Given the description of an element on the screen output the (x, y) to click on. 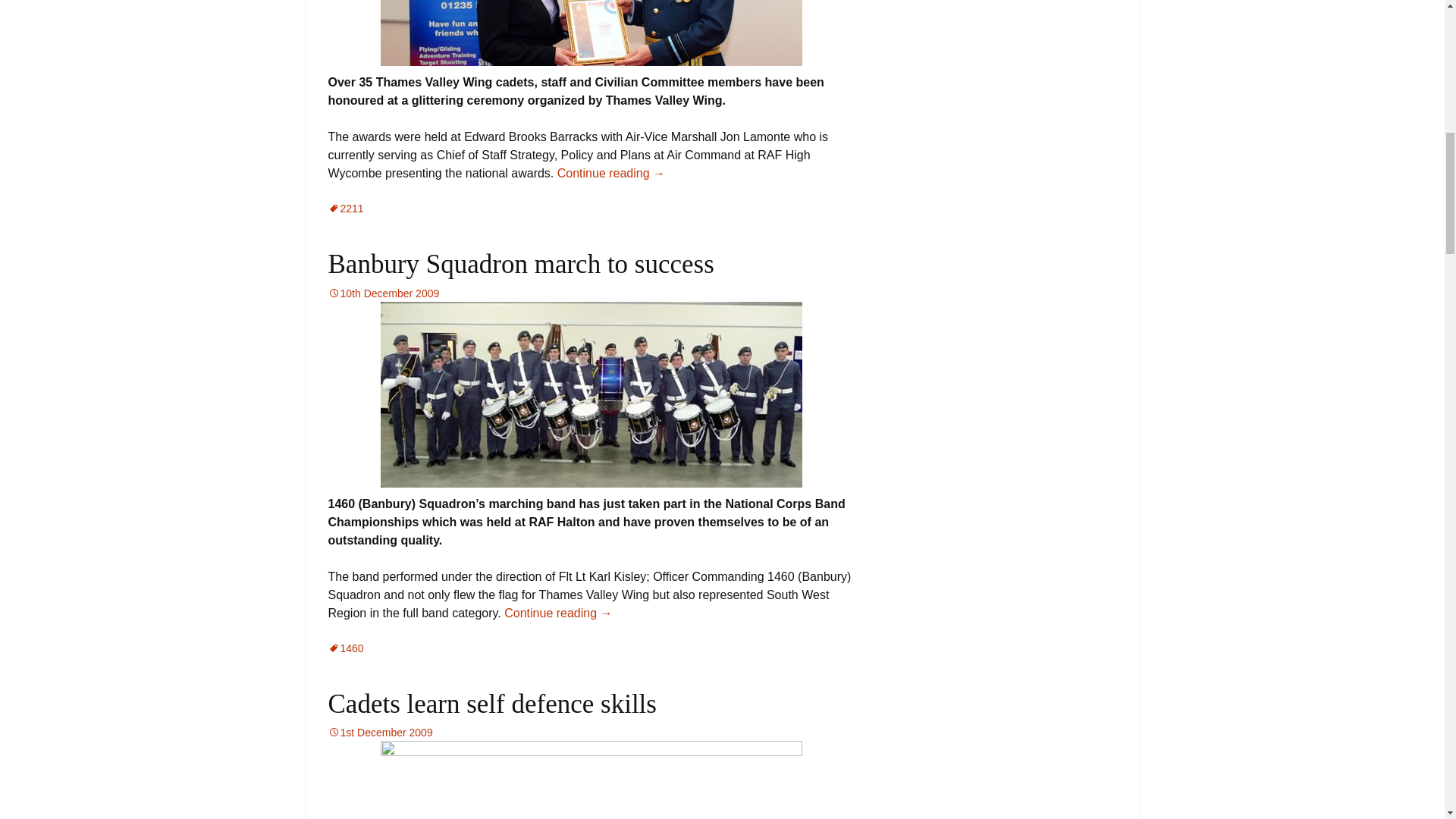
Permalink to Cadets learn self defence skills (379, 732)
Banbury Squadron march to success (520, 264)
Permalink to Banbury Squadron march to success (383, 292)
2211 (344, 208)
